Given the description of an element on the screen output the (x, y) to click on. 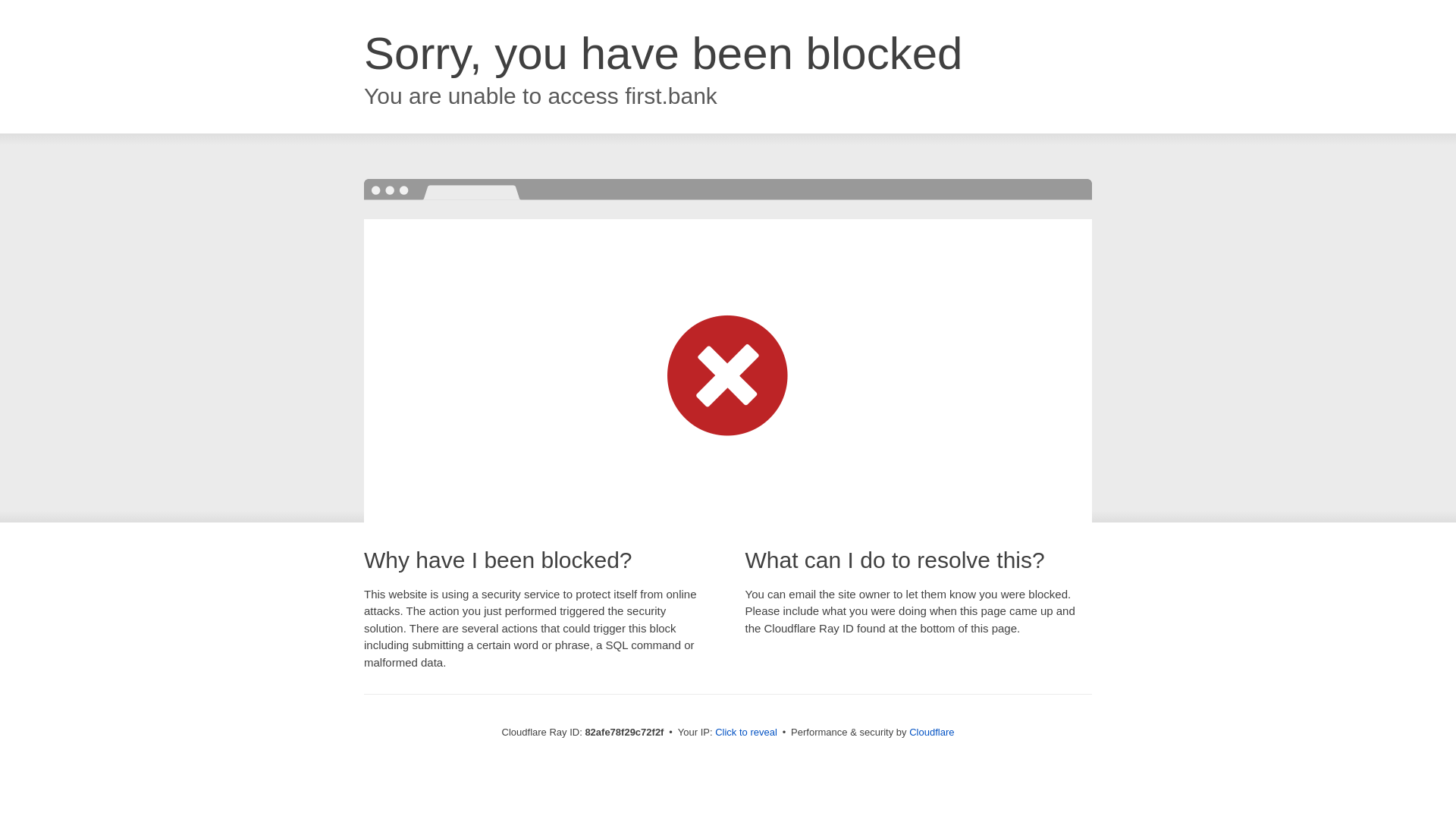
Click to reveal Element type: text (746, 732)
Cloudflare Element type: text (931, 731)
